Given the description of an element on the screen output the (x, y) to click on. 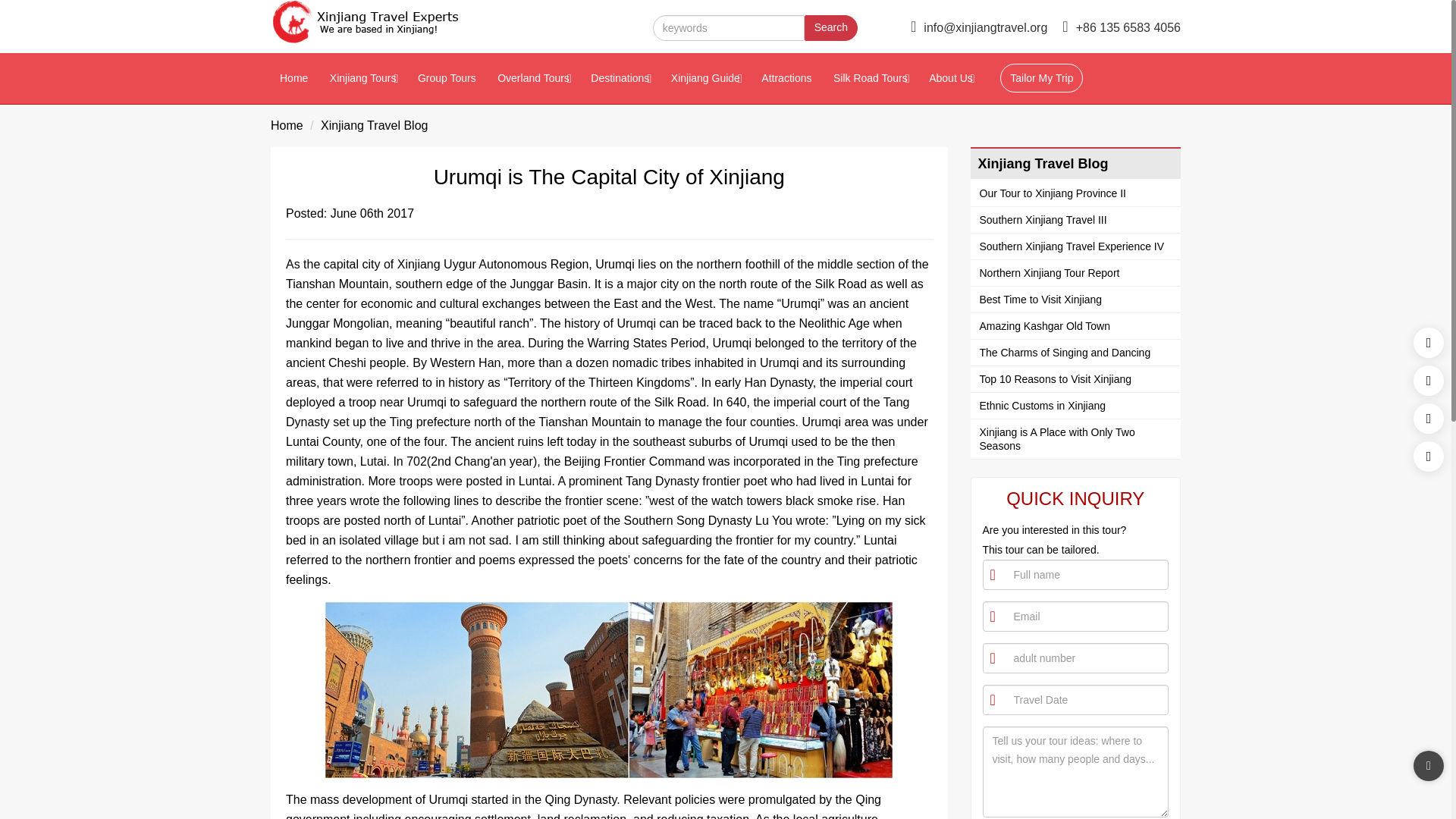
Group Tours (446, 78)
Xinjiang Tours (363, 78)
Destinations (619, 78)
Overland Tours (532, 78)
international-bazaar.jpg (608, 689)
Xinjiang Guide (705, 78)
Home (293, 78)
